Given the description of an element on the screen output the (x, y) to click on. 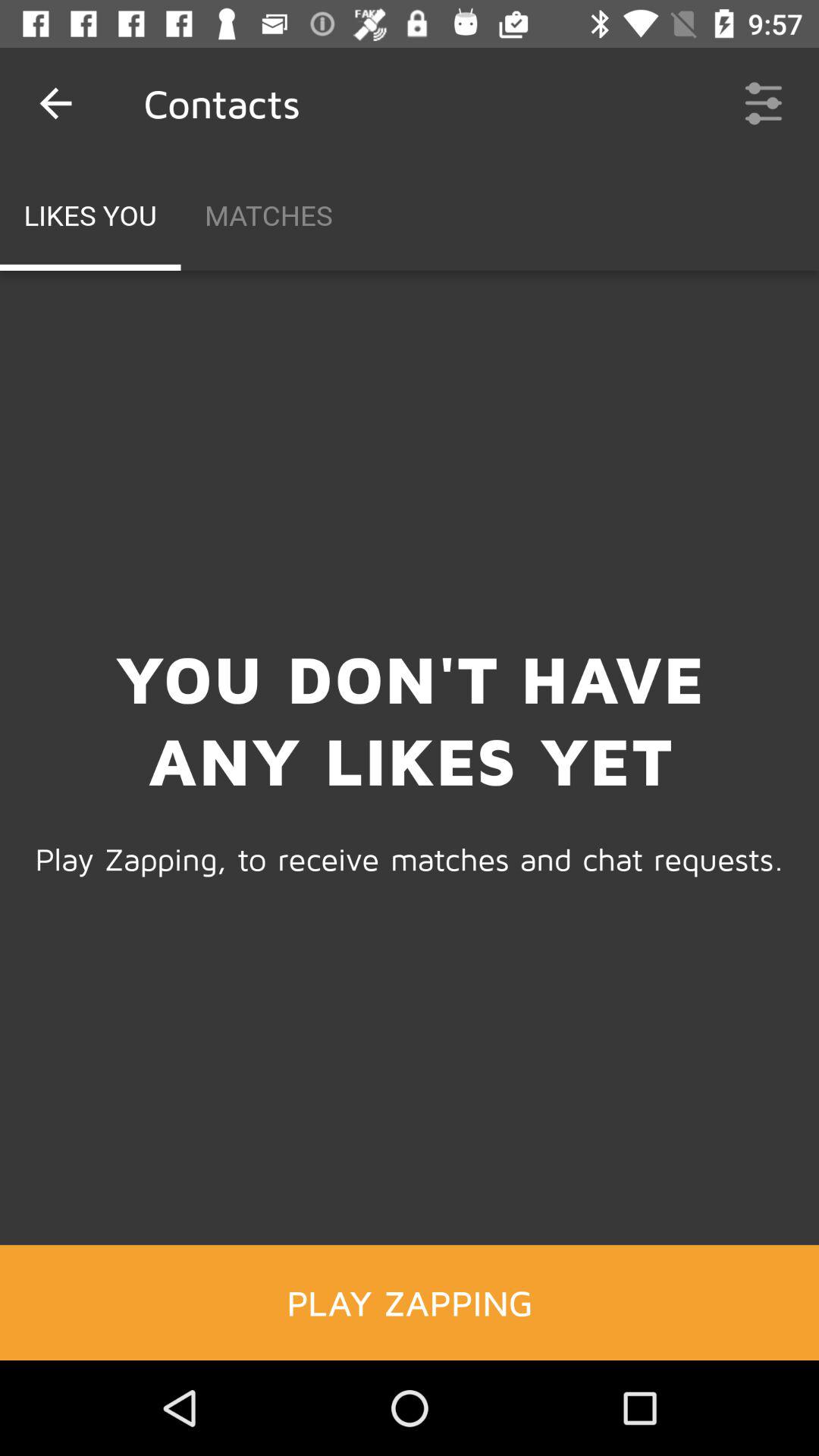
tap the icon to the right of the matches item (763, 103)
